Given the description of an element on the screen output the (x, y) to click on. 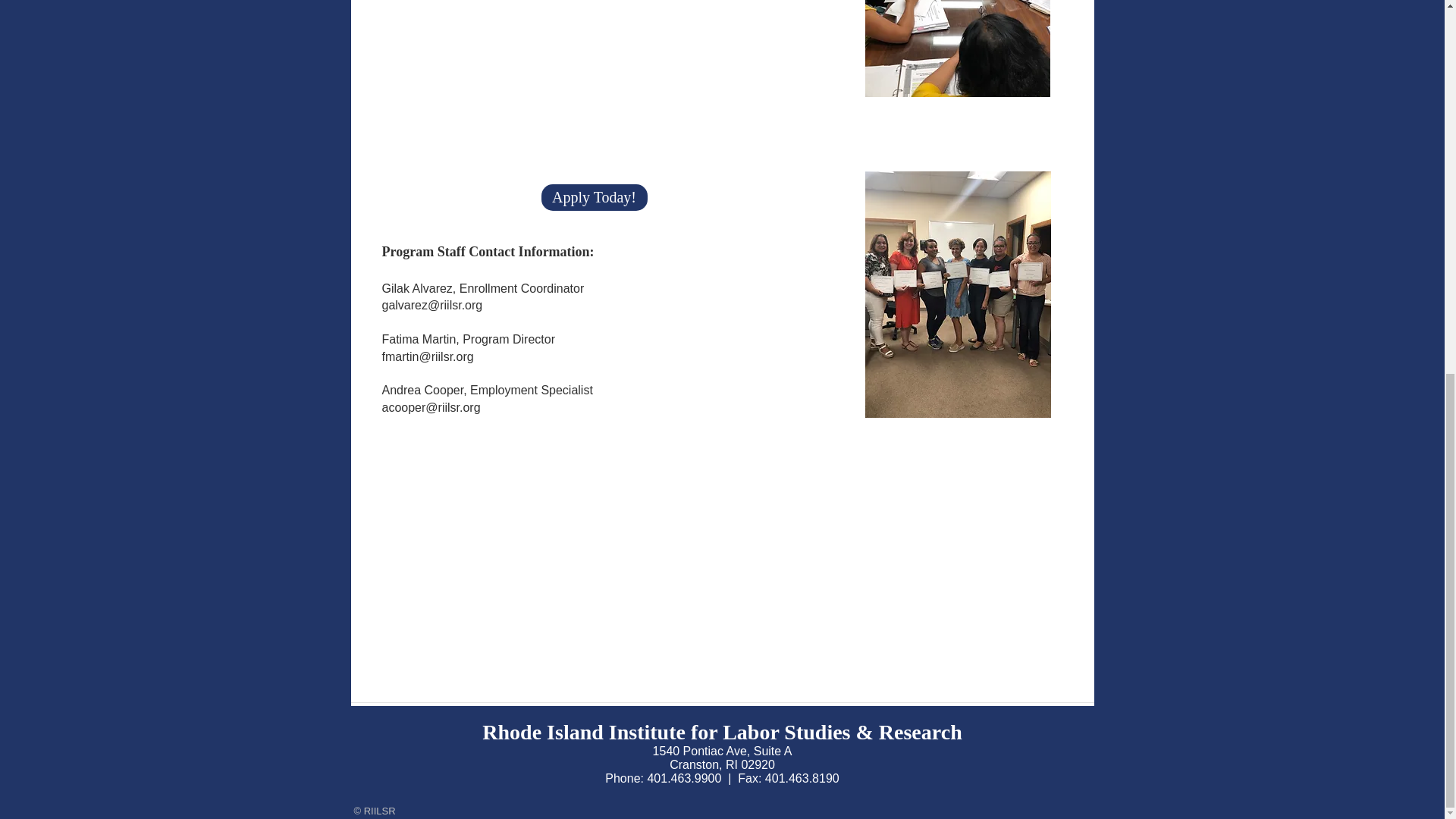
Apply Today! (594, 197)
